Given the description of an element on the screen output the (x, y) to click on. 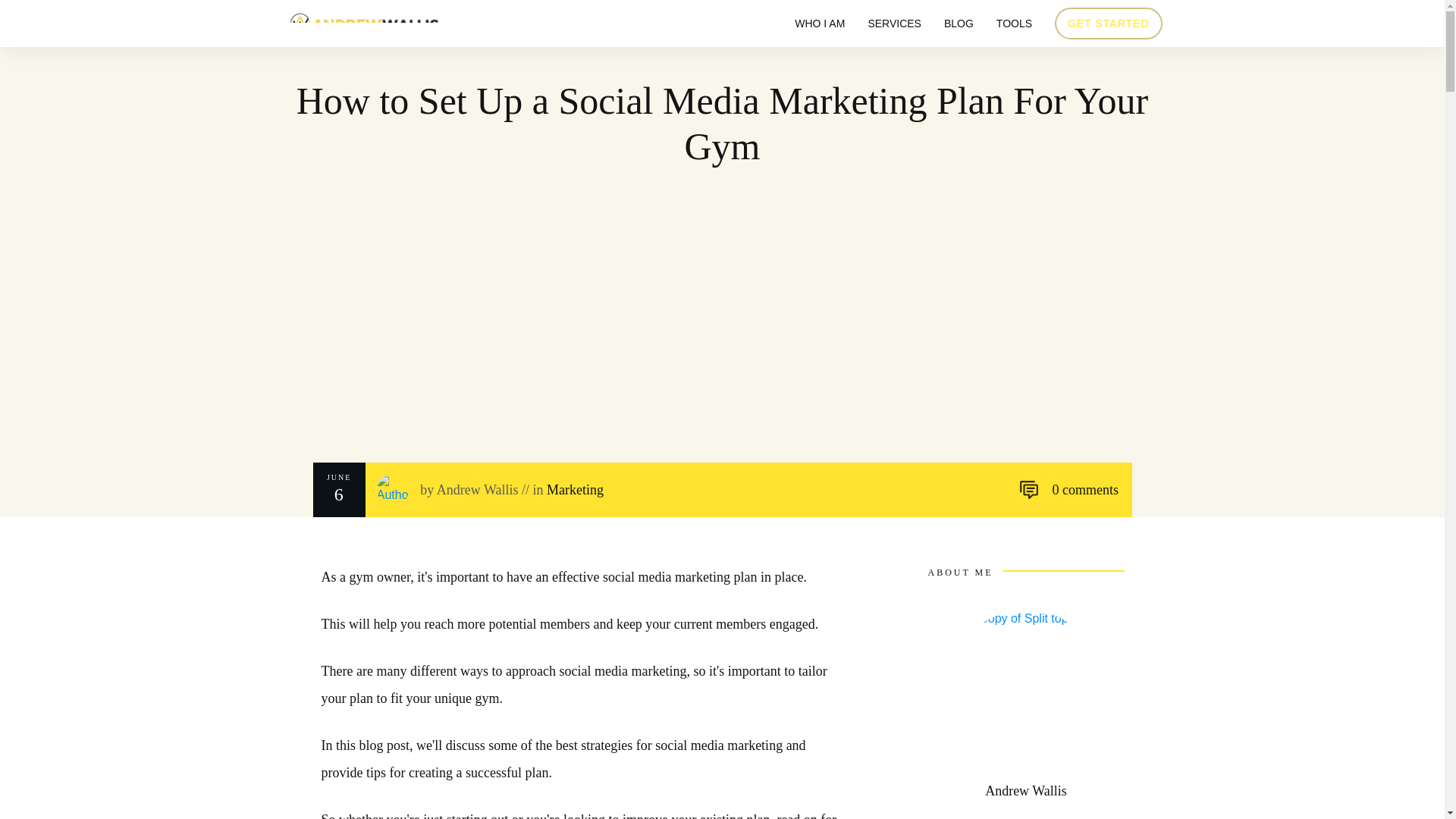
TOOLS (1013, 23)
Marketing (575, 489)
Marketing (575, 489)
Andrew Wallis (477, 489)
Andrew Wallis (477, 489)
WHO I AM (819, 23)
Andrew Wallis (1026, 790)
SERVICES (894, 23)
GET STARTED (1107, 23)
Copy of Split top 02 (1026, 685)
